Given the description of an element on the screen output the (x, y) to click on. 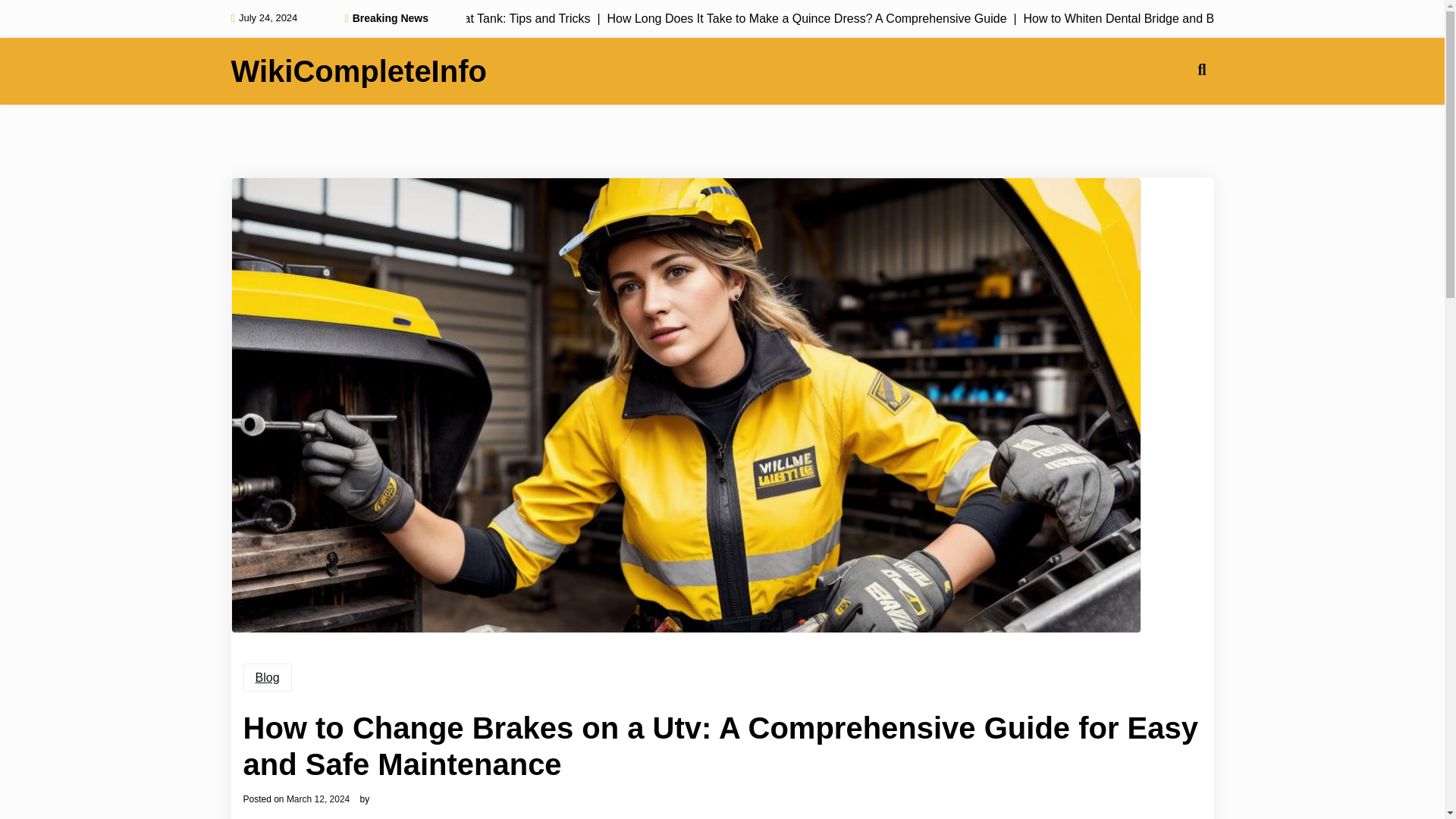
Blog (267, 677)
WikiCompleteInfo (358, 71)
March 12, 2024 (317, 798)
